Given the description of an element on the screen output the (x, y) to click on. 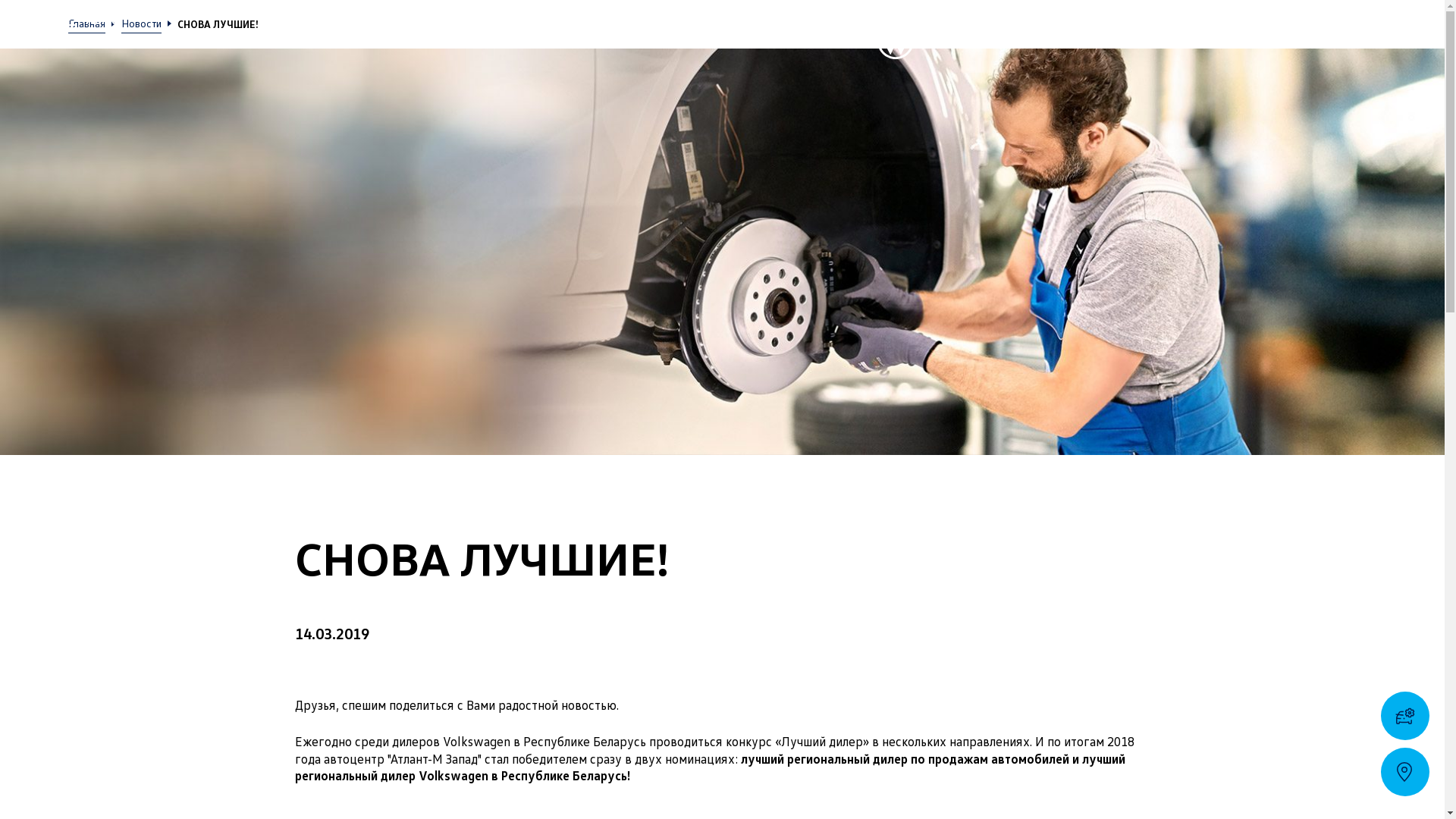
+375 33 642 42 42 Element type: text (1335, 18)
